Given the description of an element on the screen output the (x, y) to click on. 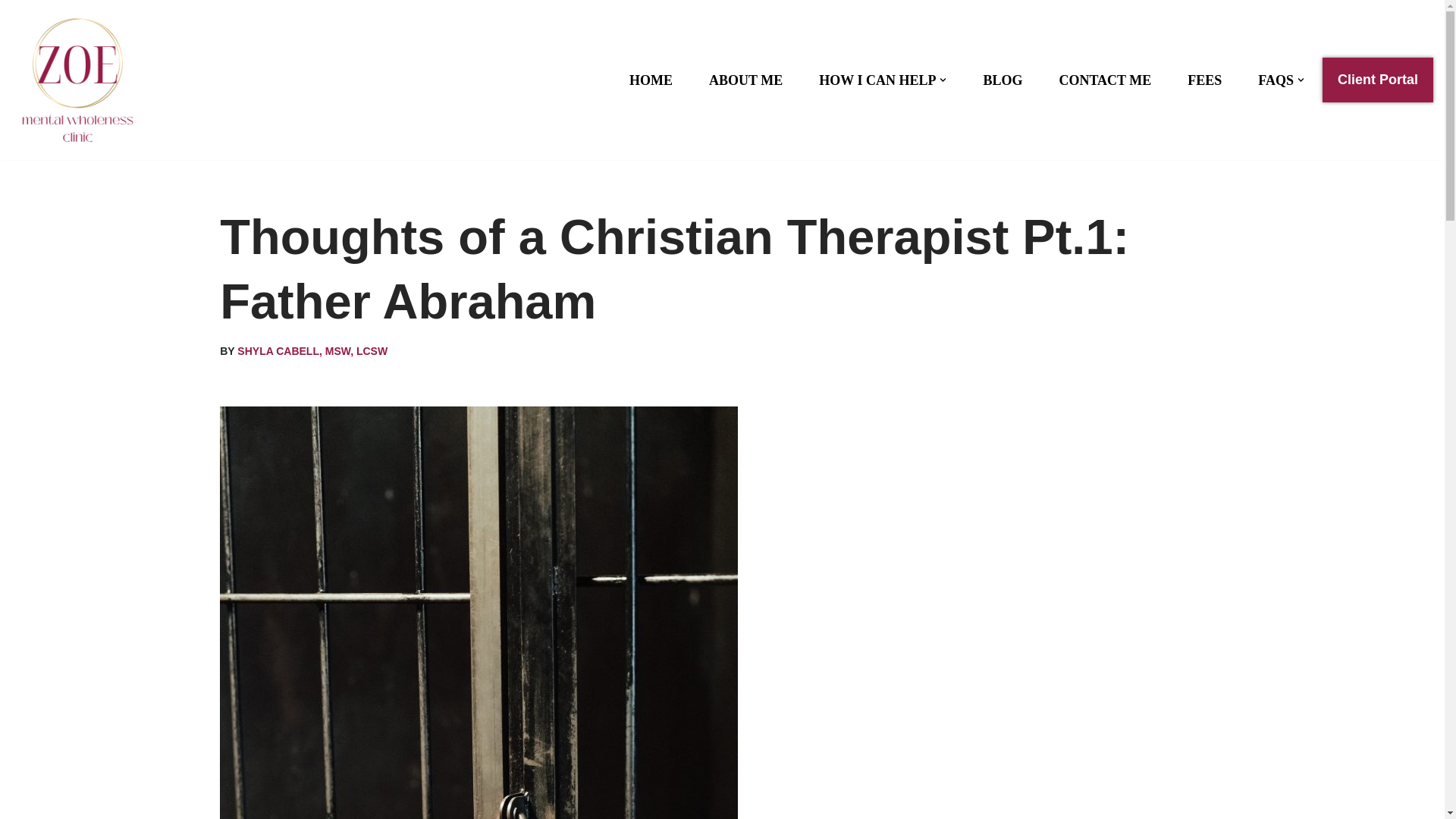
HOW I CAN HELP (877, 79)
FEES (1204, 79)
ABOUT ME (746, 79)
Client Portal (1377, 79)
CONTACT ME (1104, 79)
Posts by Shyla Cabell, MSW, LCSW (312, 350)
Skip to content (11, 31)
BLOG (1002, 79)
FAQS (1275, 79)
HOME (650, 79)
